Given the description of an element on the screen output the (x, y) to click on. 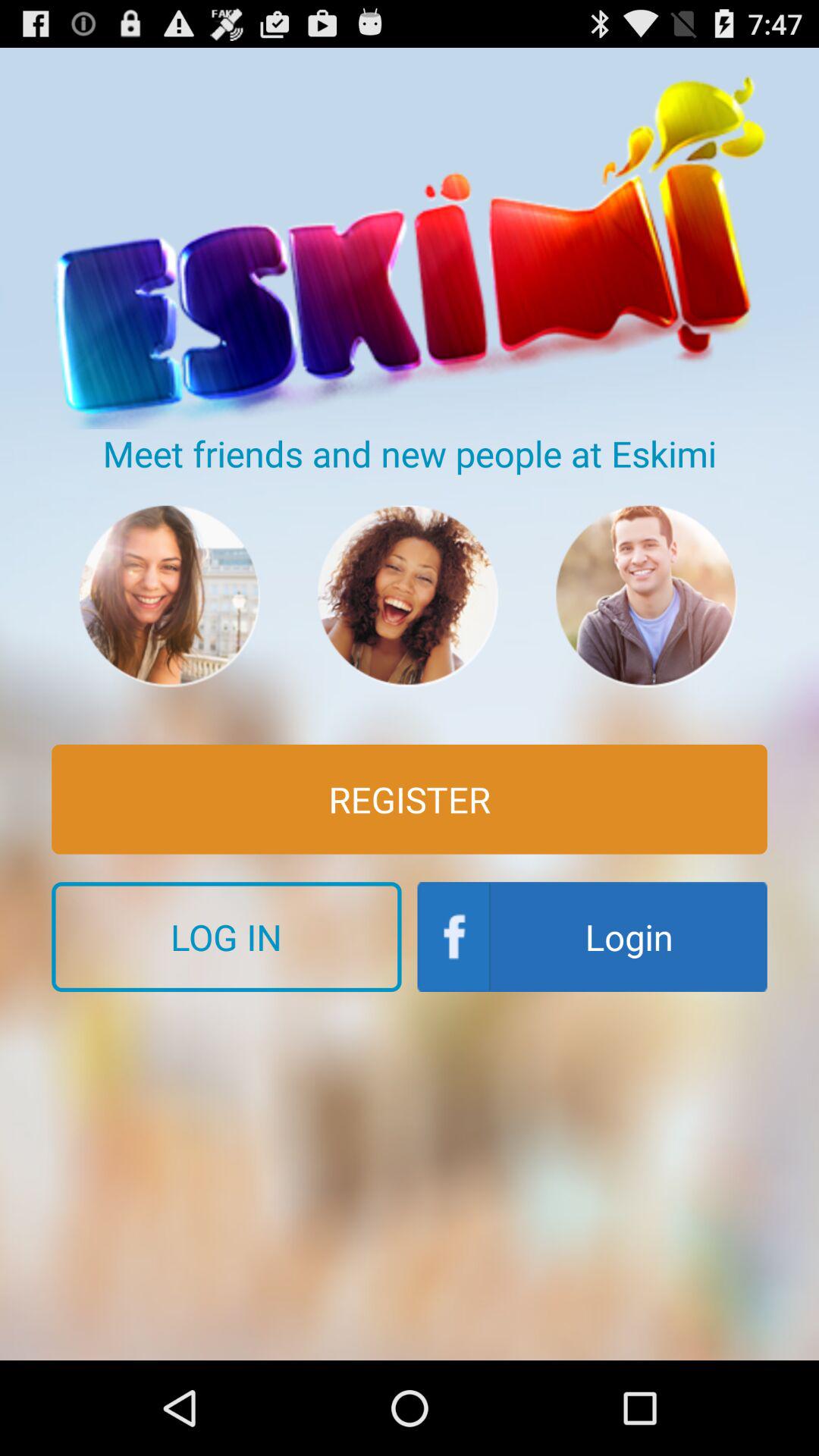
select the item to the right of log in icon (592, 936)
